Given the description of an element on the screen output the (x, y) to click on. 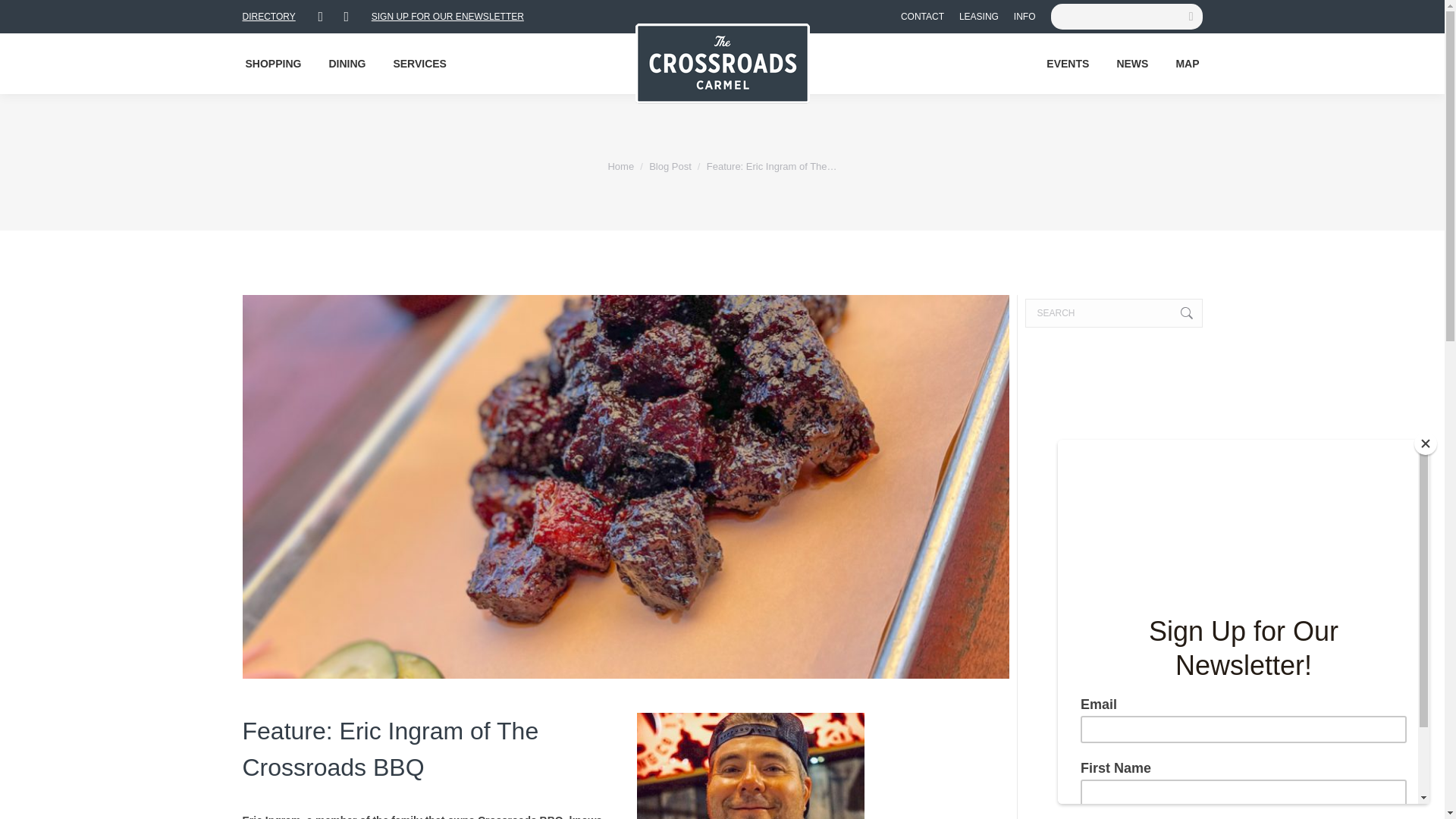
SIGN UP FOR OUR ENEWSLETTER (447, 16)
INFO (1024, 16)
Go! (1178, 312)
DIRECTORY (269, 16)
Blog Post (670, 165)
Facebook page opens in new window (320, 16)
LEASING (978, 16)
Facebook page opens in new window (320, 16)
Search form (1126, 16)
CONTACT (922, 16)
Go! (1178, 312)
Instagram page opens in new window (346, 16)
SHOPPING (273, 63)
Home (620, 165)
DINING (346, 63)
